Given the description of an element on the screen output the (x, y) to click on. 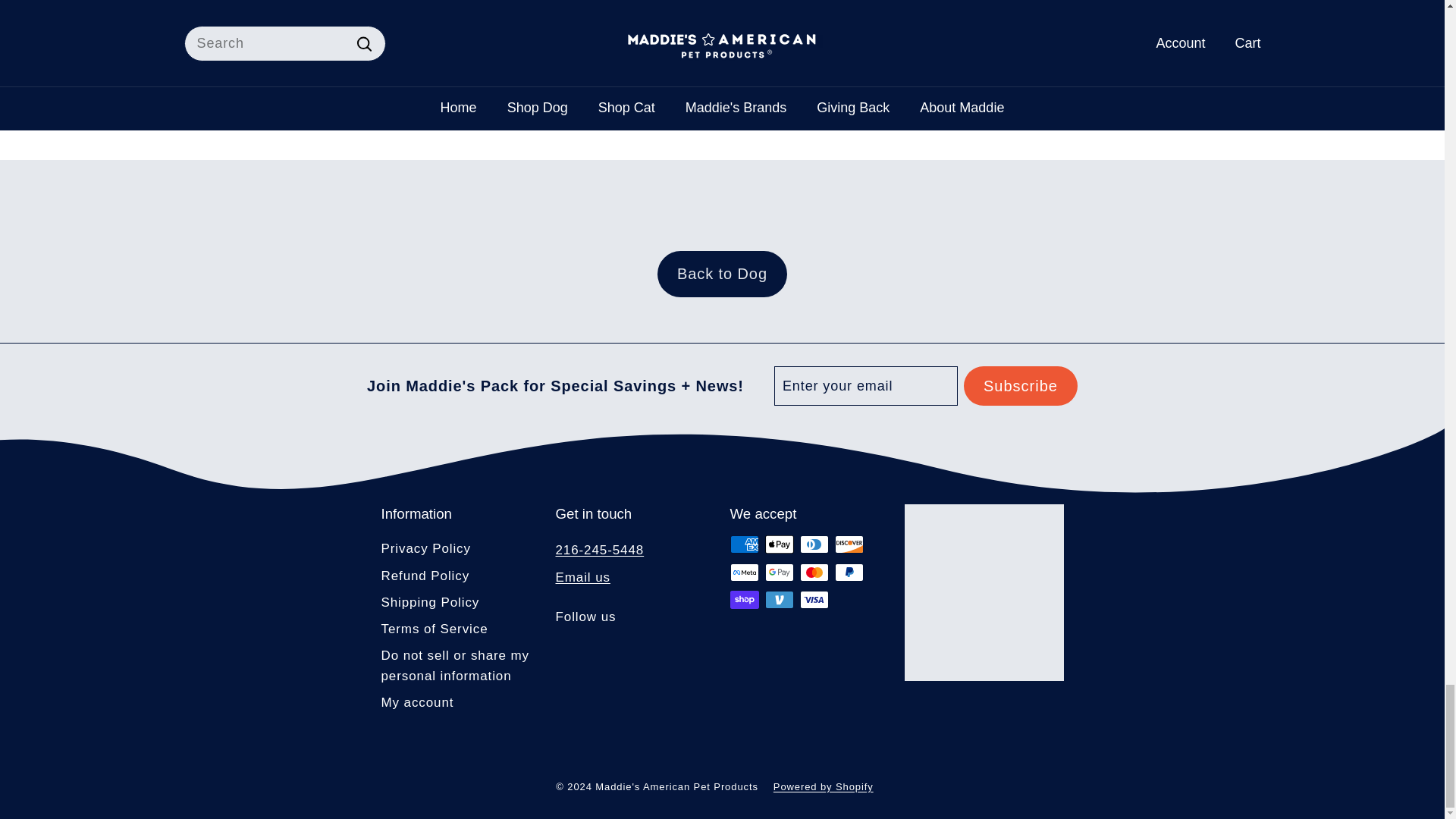
Visa (813, 599)
PayPal (848, 572)
American Express (743, 544)
Discover (848, 544)
Shop Pay (743, 599)
Apple Pay (778, 544)
Venmo (778, 599)
Mastercard (813, 572)
Google Pay (778, 572)
Diners Club (813, 544)
